Given the description of an element on the screen output the (x, y) to click on. 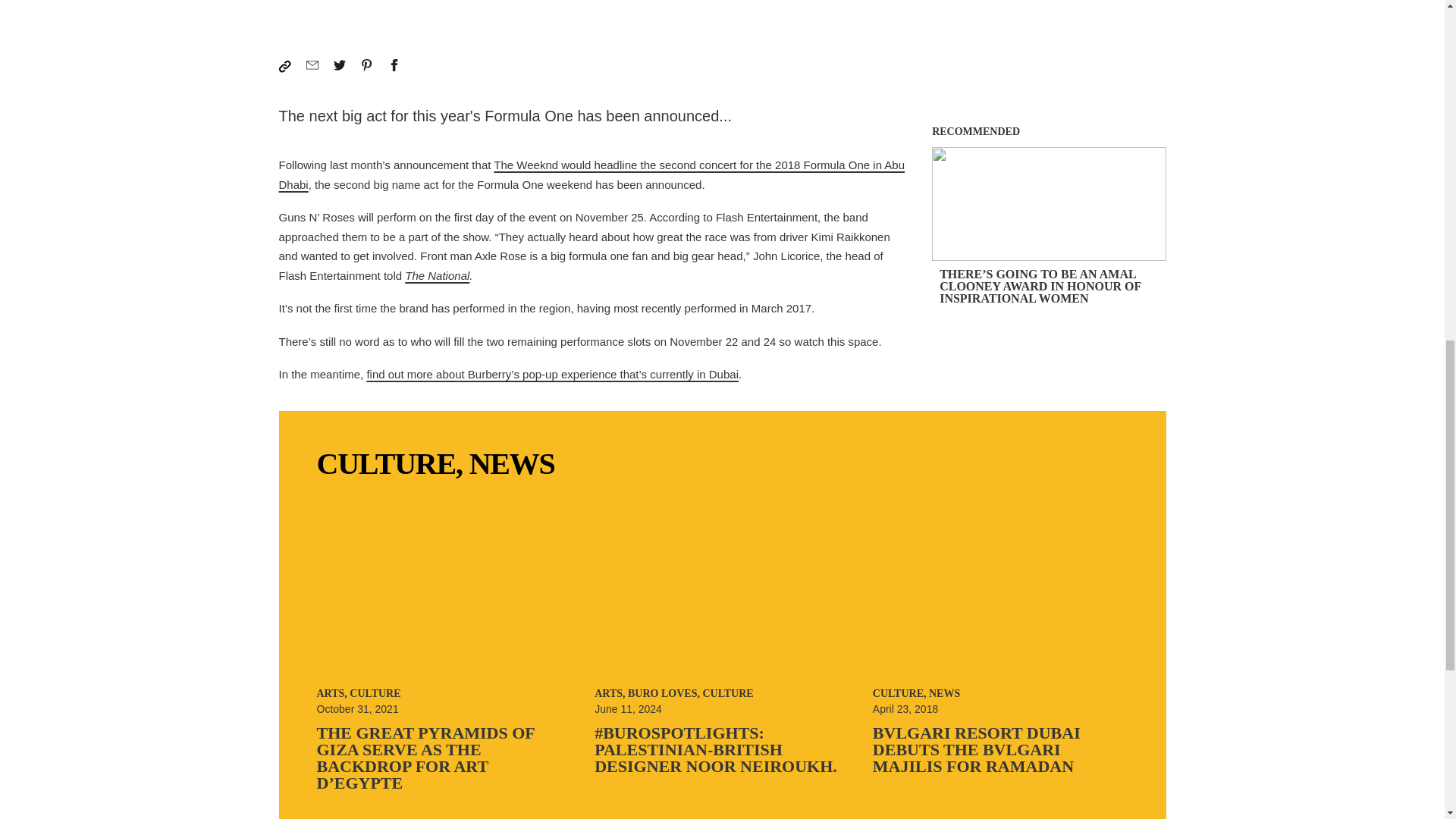
NEWS (511, 463)
CULTURE (387, 463)
The National (436, 275)
